Given the description of an element on the screen output the (x, y) to click on. 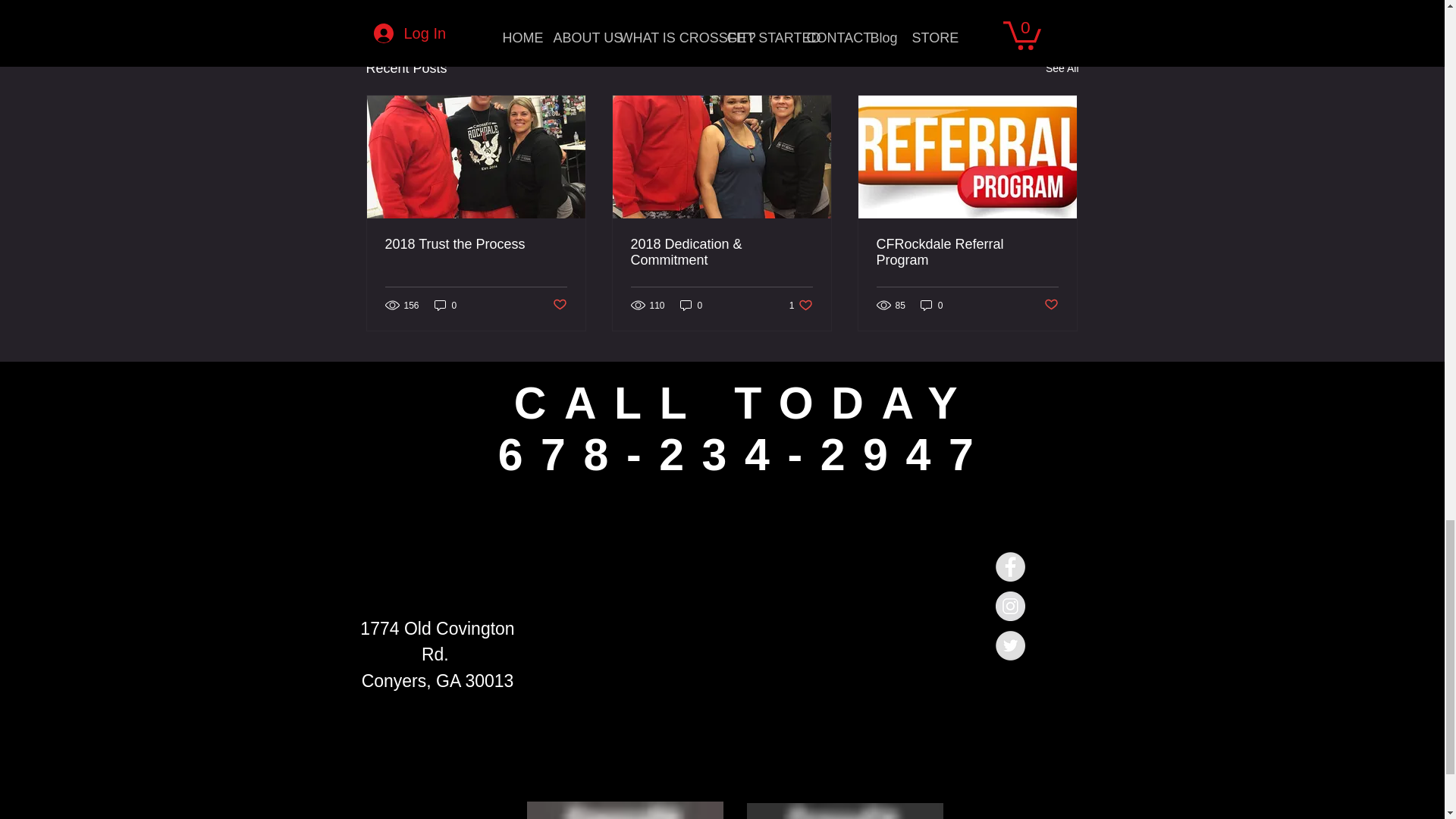
Post not marked as liked (558, 304)
Google Maps (800, 305)
CFRockdale Referral Program (733, 645)
0 (967, 252)
Post not marked as liked (931, 305)
0 (1050, 304)
0 (445, 305)
2018 Trust the Process (691, 305)
See All (476, 244)
